Given the description of an element on the screen output the (x, y) to click on. 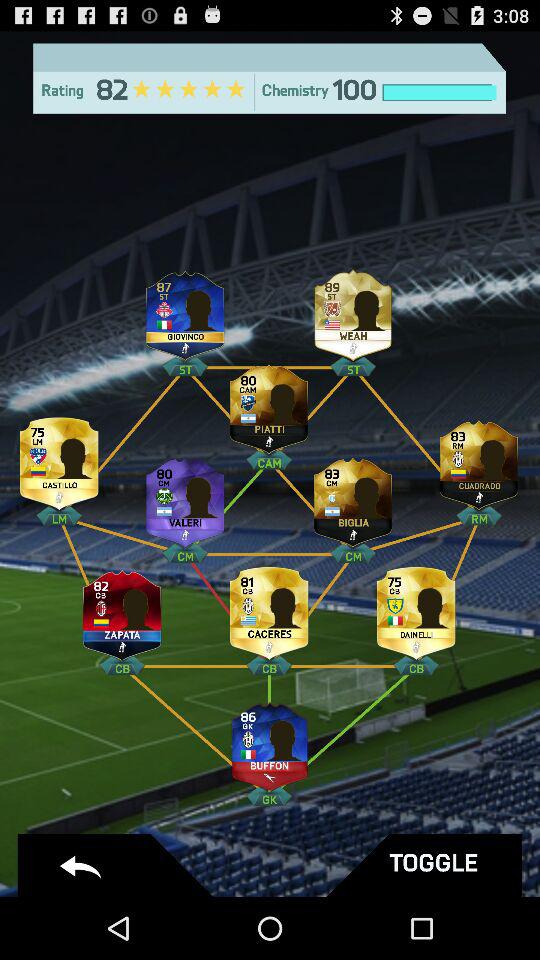
click for more info (353, 310)
